Given the description of an element on the screen output the (x, y) to click on. 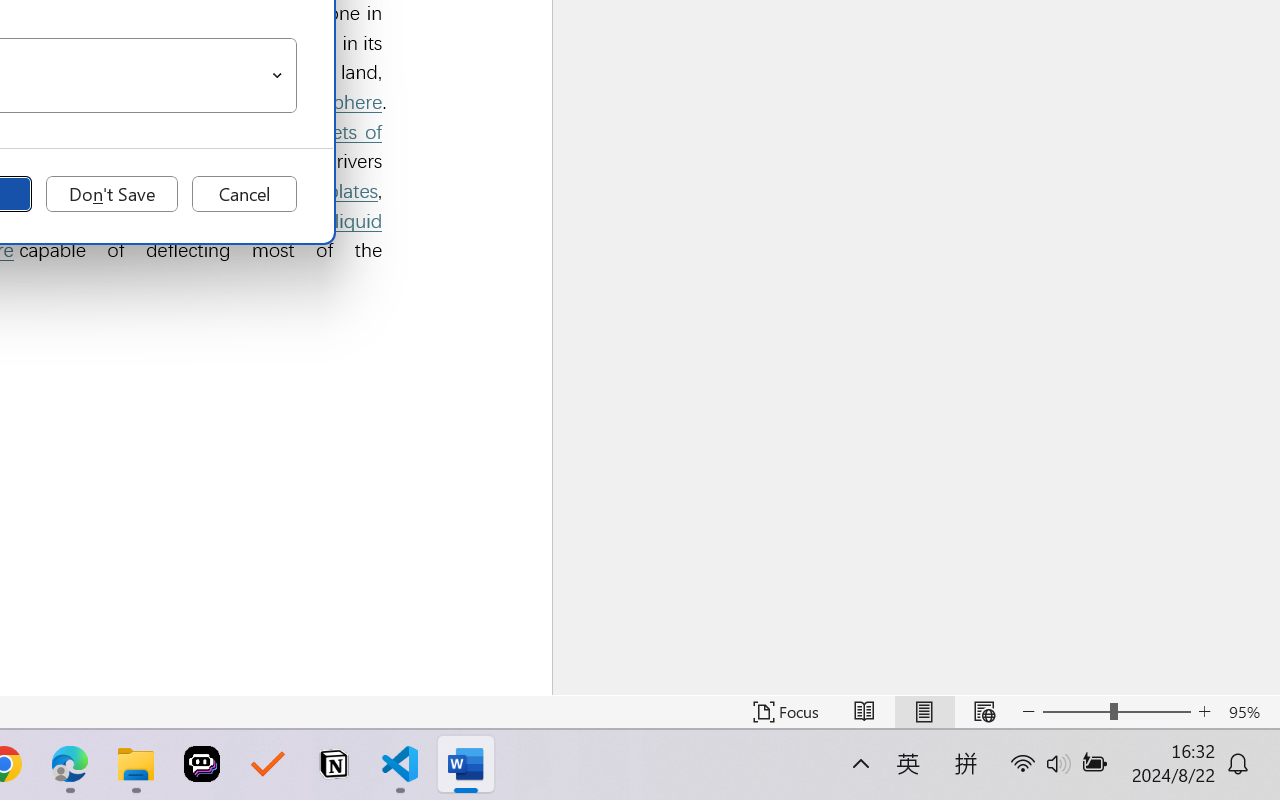
Poe (201, 764)
Open (277, 75)
Don't Save (111, 194)
Cancel (244, 194)
